Given the description of an element on the screen output the (x, y) to click on. 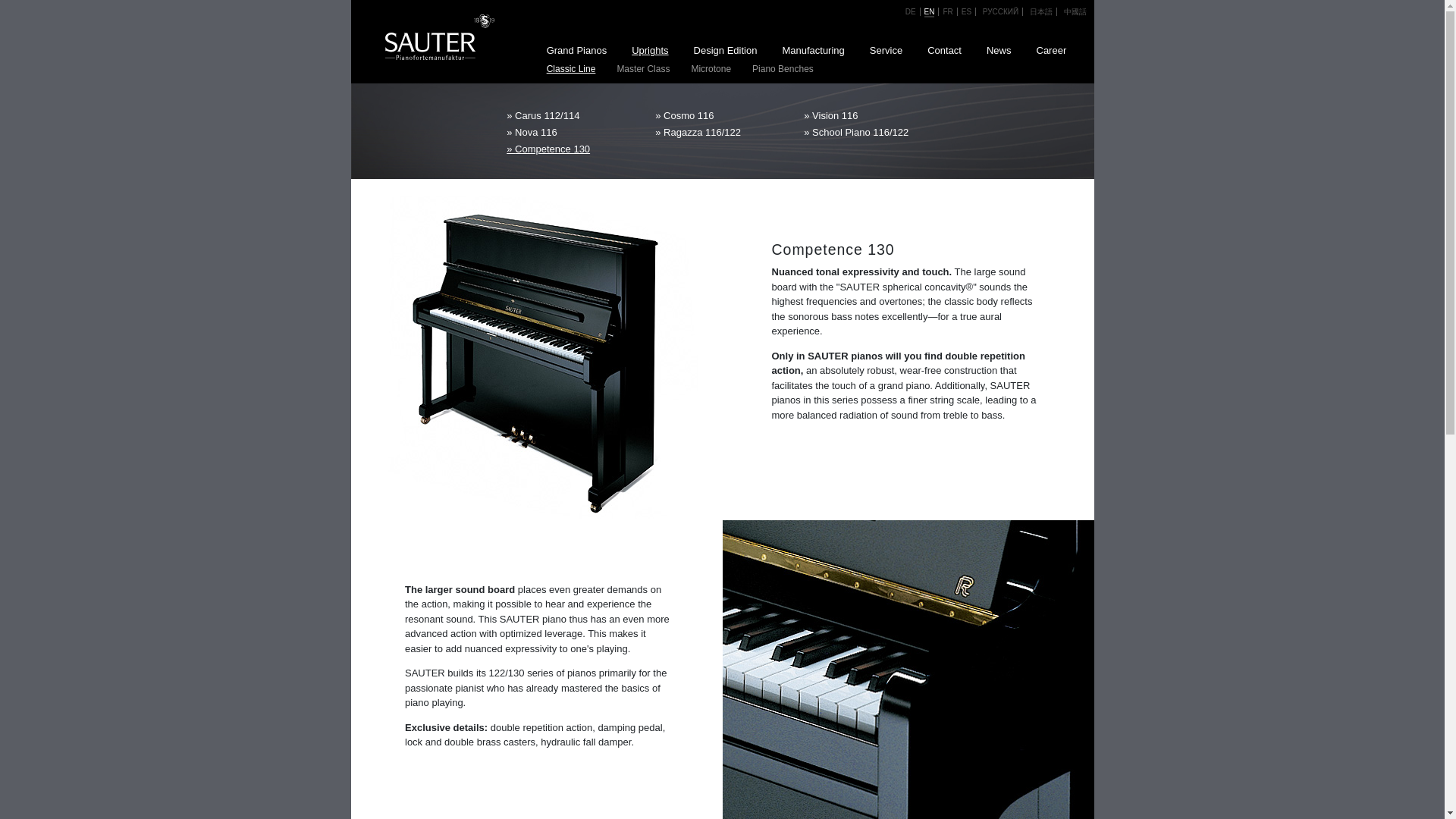
Master Class (643, 68)
Uprights (649, 50)
Home (426, 35)
EN (929, 12)
Competence 130 (573, 147)
Vision 116 (870, 114)
Manufacturing (812, 50)
Microtone (710, 68)
Design Edition (724, 50)
Career (1050, 50)
DE (910, 11)
Piano Benches (783, 68)
Classic Line (570, 68)
Service (885, 50)
Cosmo 116 (722, 114)
